Given the description of an element on the screen output the (x, y) to click on. 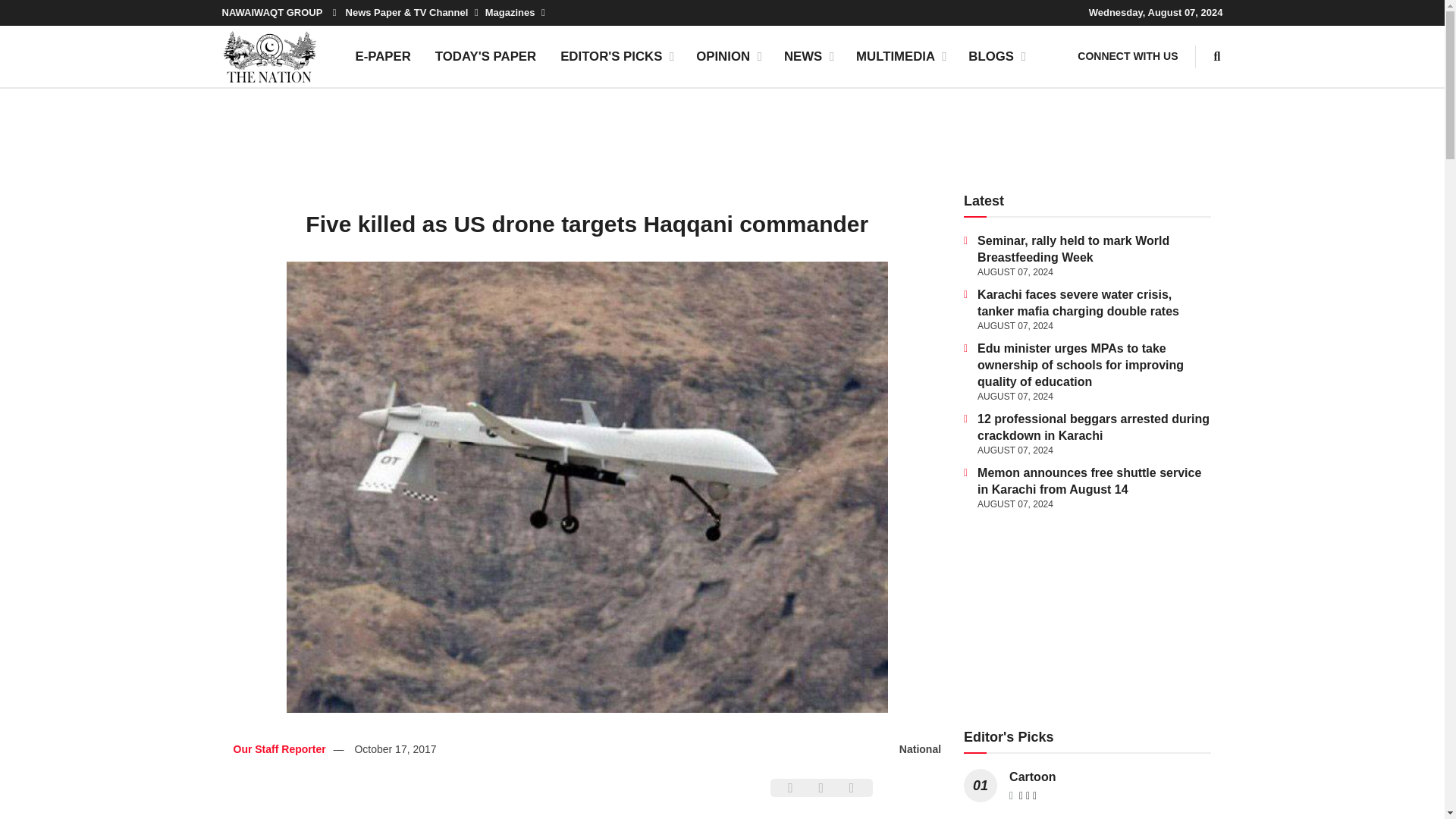
Magazines (513, 12)
NEWS (807, 55)
E-PAPER (382, 55)
BLOGS (995, 55)
OPINION (727, 55)
EDITOR'S PICKS (616, 55)
TODAY'S PAPER (485, 55)
MULTIMEDIA (900, 55)
